Given the description of an element on the screen output the (x, y) to click on. 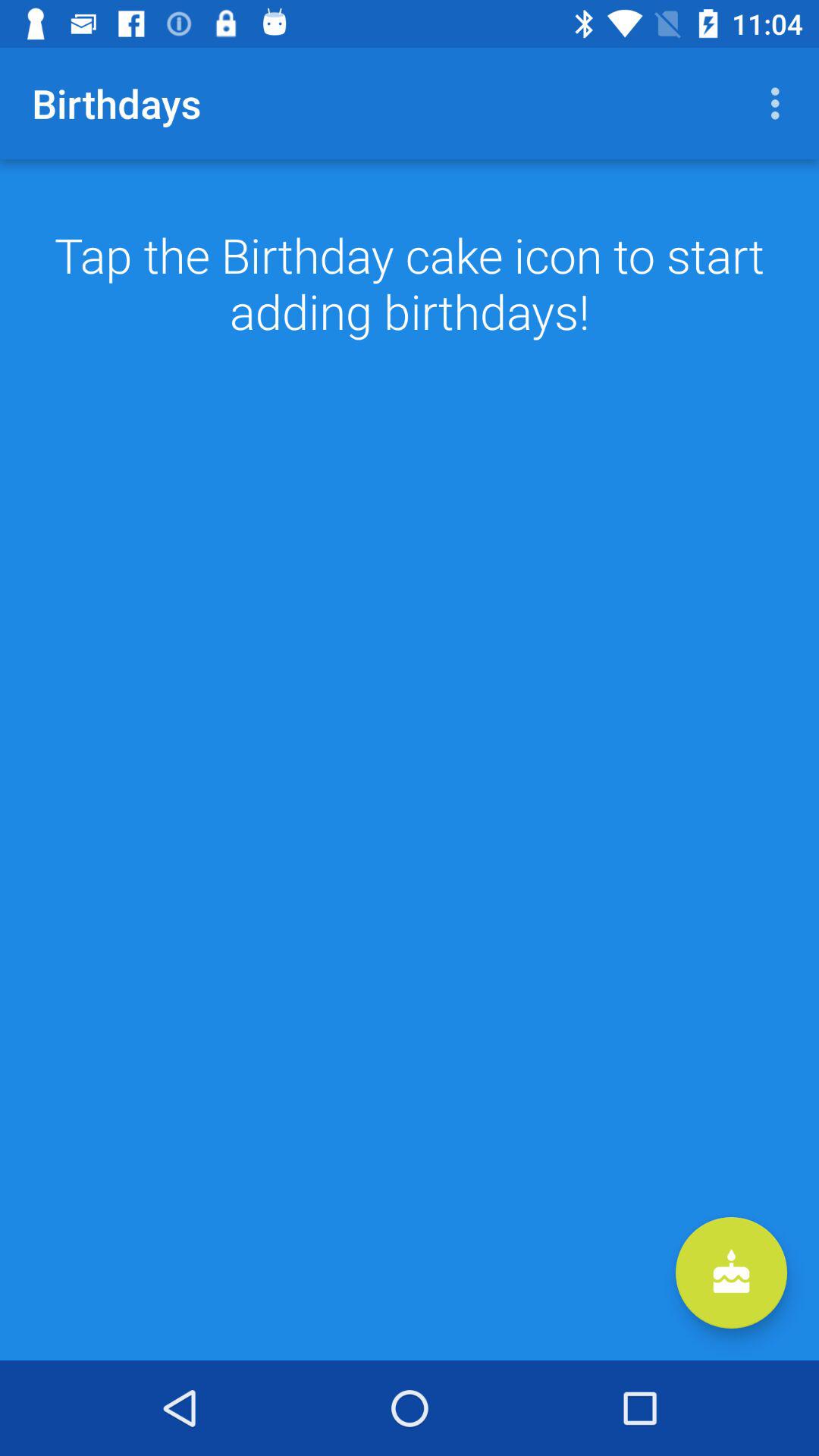
open the icon at the top right corner (779, 103)
